Given the description of an element on the screen output the (x, y) to click on. 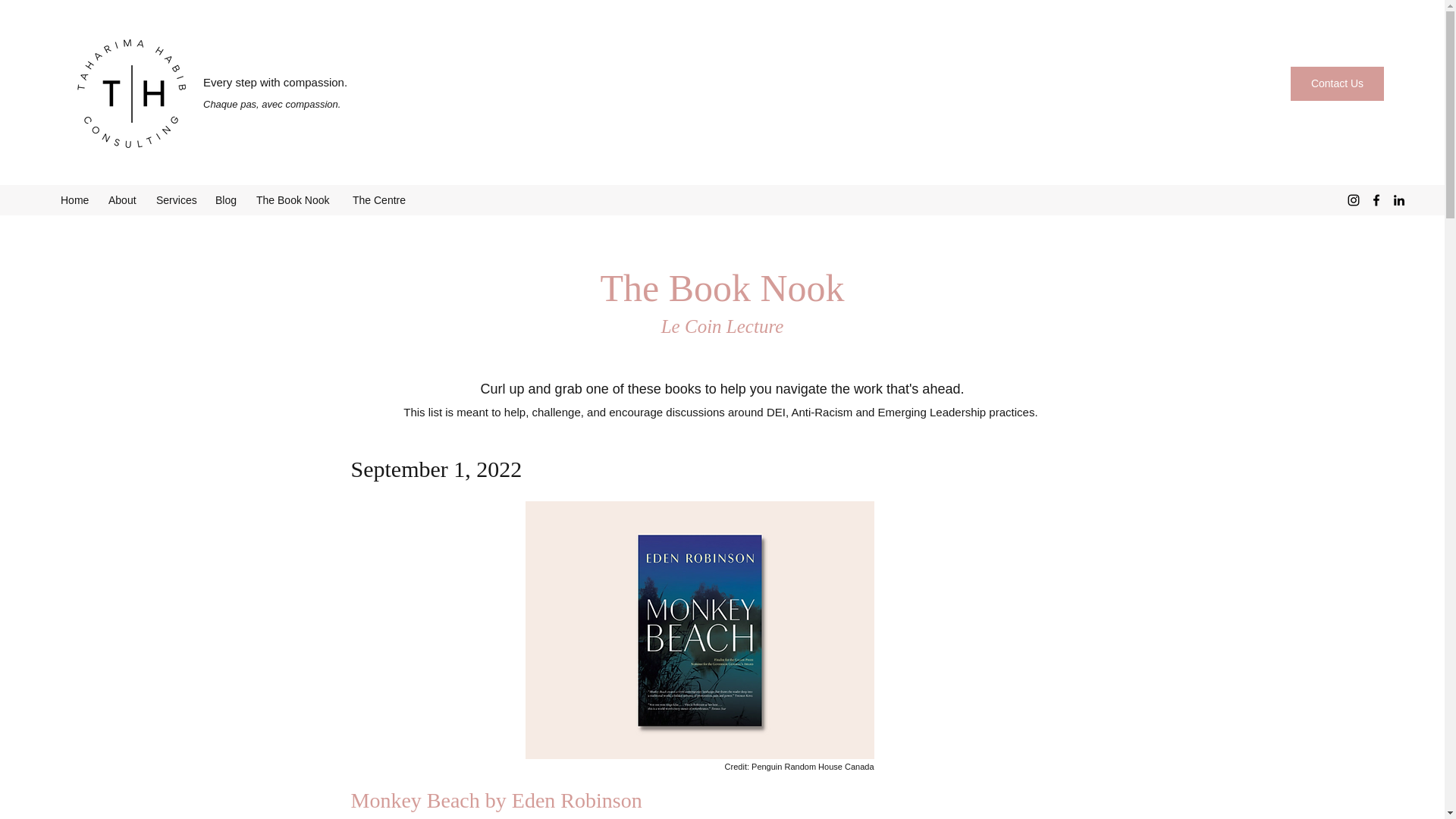
Home (76, 200)
Services (178, 200)
Contact Us (1337, 83)
Blog (228, 200)
The Book Nook (296, 200)
The Centre (381, 200)
About (124, 200)
